Given the description of an element on the screen output the (x, y) to click on. 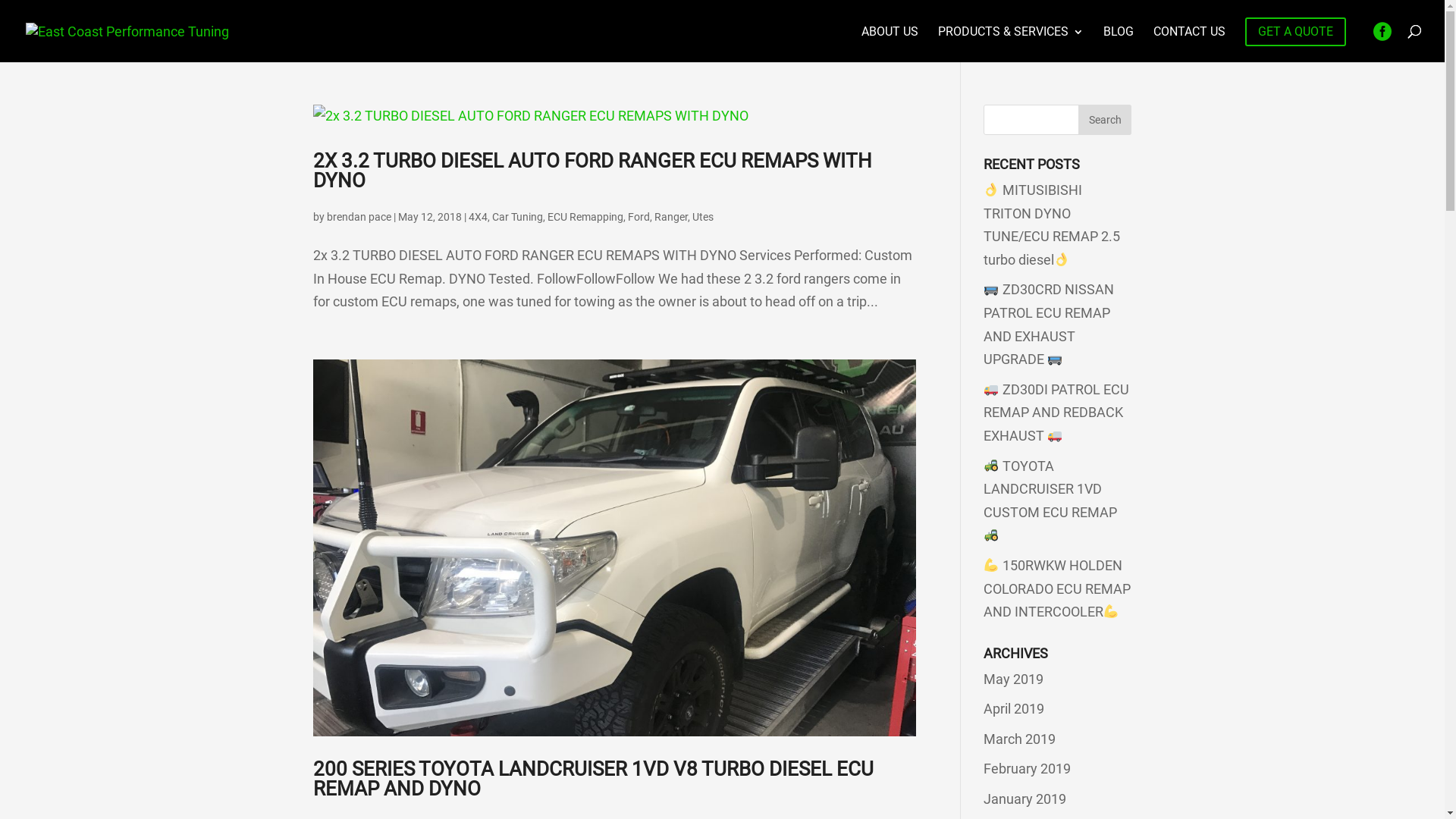
GET A QUOTE Element type: text (1295, 31)
150RWKW HOLDEN COLORADO ECU REMAP AND INTERCOOLER Element type: text (1056, 588)
ZD30DI PATROL ECU REMAP AND REDBACK EXHAUST Element type: text (1056, 412)
MITUSIBISHI TRITON DYNO TUNE/ECU REMAP 2.5 turbo diesel Element type: text (1051, 224)
April 2019 Element type: text (1013, 708)
March 2019 Element type: text (1019, 738)
Ranger Element type: text (670, 216)
PRODUCTS & SERVICES Element type: text (1010, 44)
CONTACT US Element type: text (1189, 44)
February 2019 Element type: text (1026, 768)
Utes Element type: text (701, 216)
2X 3.2 TURBO DIESEL AUTO FORD RANGER ECU REMAPS WITH DYNO Element type: text (591, 170)
brendan pace Element type: text (358, 216)
BLOG Element type: text (1118, 44)
ABOUT US Element type: text (889, 44)
ECU Remapping Element type: text (585, 216)
TOYOTA LANDCRUISER 1VD CUSTOM ECU REMAP Element type: text (1050, 500)
Search Element type: text (1104, 119)
Car Tuning Element type: text (516, 216)
May 2019 Element type: text (1013, 679)
January 2019 Element type: text (1024, 798)
4X4 Element type: text (477, 216)
Ford Element type: text (638, 216)
ZD30CRD NISSAN PATROL ECU REMAP AND EXHAUST UPGRADE Element type: text (1048, 324)
